Given the description of an element on the screen output the (x, y) to click on. 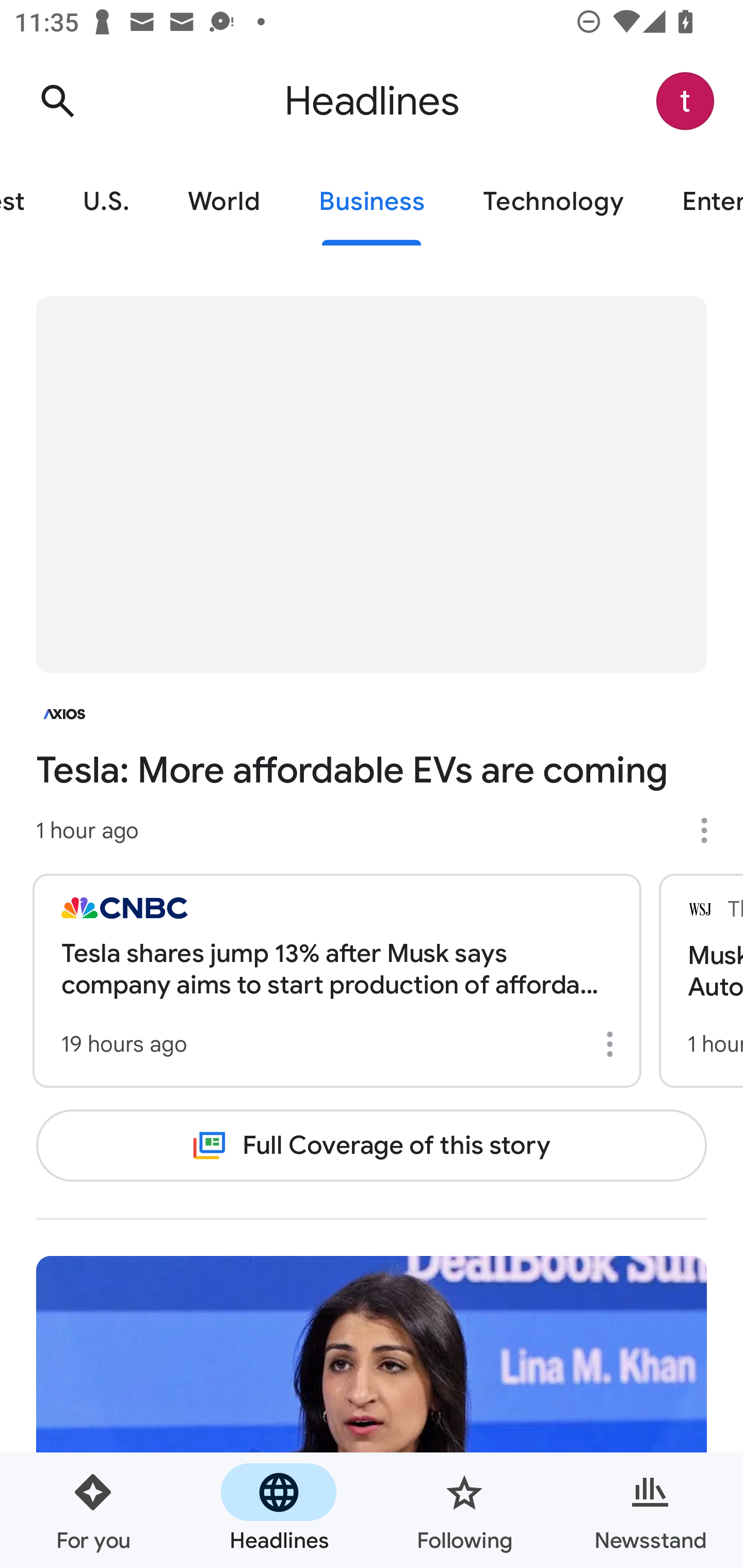
Search (57, 100)
U.S. (106, 202)
World (224, 202)
Technology (552, 202)
Entertainment (697, 202)
More options (711, 830)
More options (613, 1043)
Full Coverage of this story (371, 1146)
For you (92, 1509)
Headlines (278, 1509)
Following (464, 1509)
Newsstand (650, 1509)
